Given the description of an element on the screen output the (x, y) to click on. 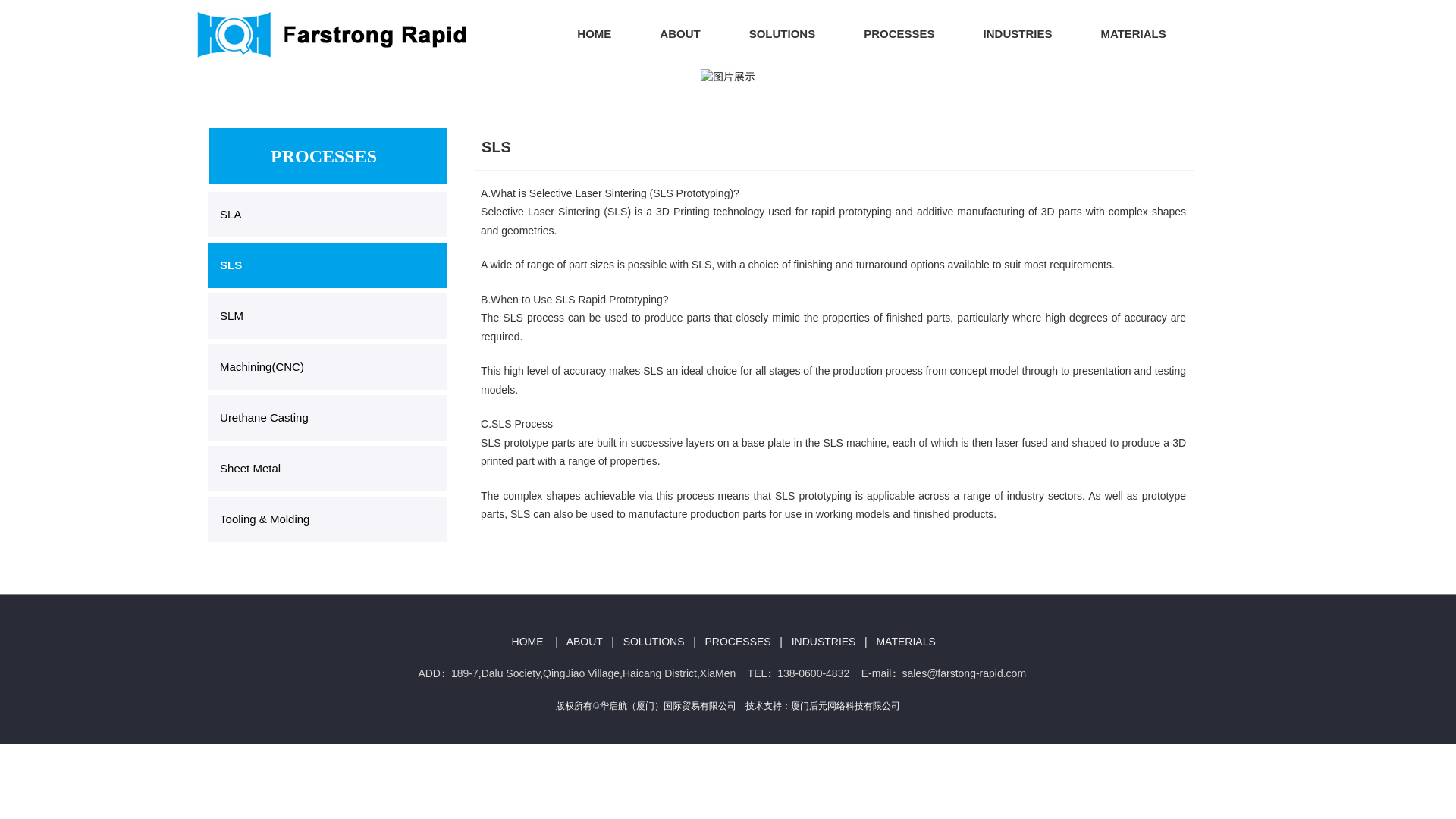
HOME (593, 33)
ABOUT (584, 641)
SOLUTIONS (782, 33)
Urethane Casting (327, 417)
ABOUT (678, 33)
INDUSTRIES (1018, 33)
Sheet Metal (327, 468)
SLS (327, 265)
MATERIALS (905, 641)
PROCESSES (737, 641)
PROCESSES (899, 33)
SLM (327, 316)
HOME (527, 641)
SOLUTIONS (653, 641)
MATERIALS (1132, 33)
